Given the description of an element on the screen output the (x, y) to click on. 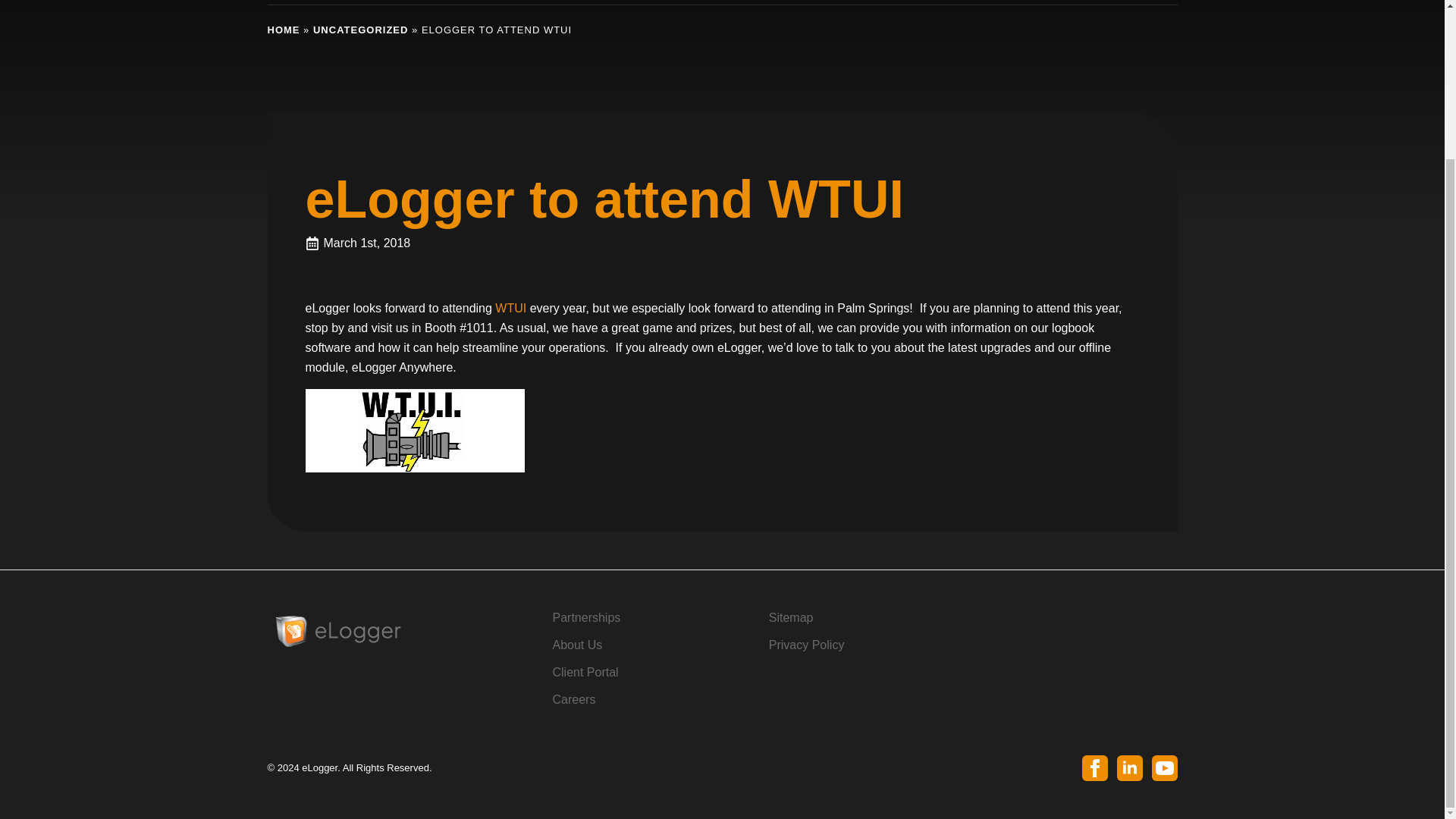
Client Portal (584, 672)
Partnerships (585, 618)
About Us (576, 645)
WTUI (510, 308)
Careers (573, 700)
Sitemap (790, 618)
UNCATEGORIZED (360, 30)
HOME (282, 30)
